Given the description of an element on the screen output the (x, y) to click on. 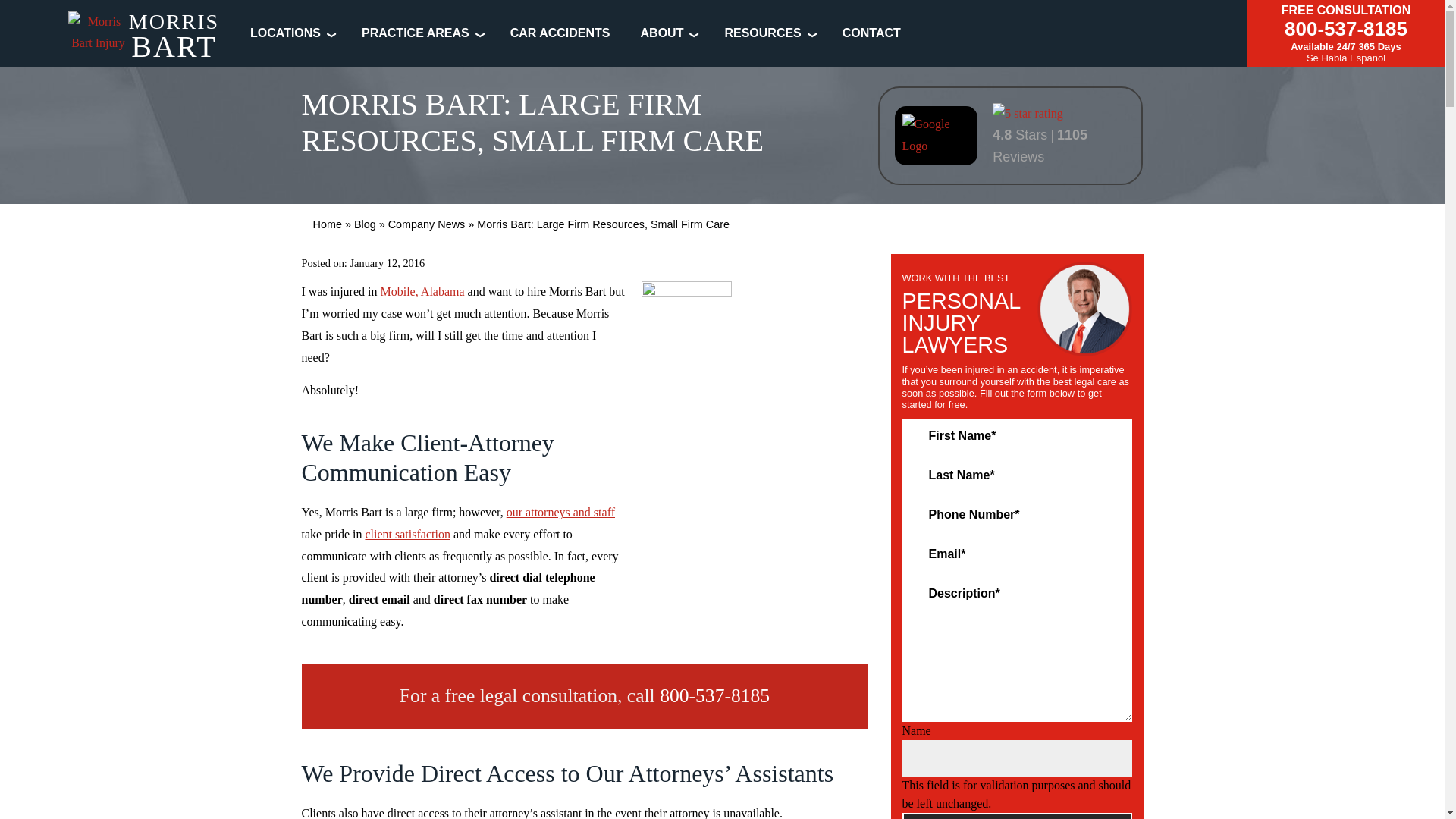
MORRISBART (143, 37)
Submit Free Case Review (1017, 816)
LOCATIONS (285, 32)
PRACTICE AREAS (414, 32)
